Given the description of an element on the screen output the (x, y) to click on. 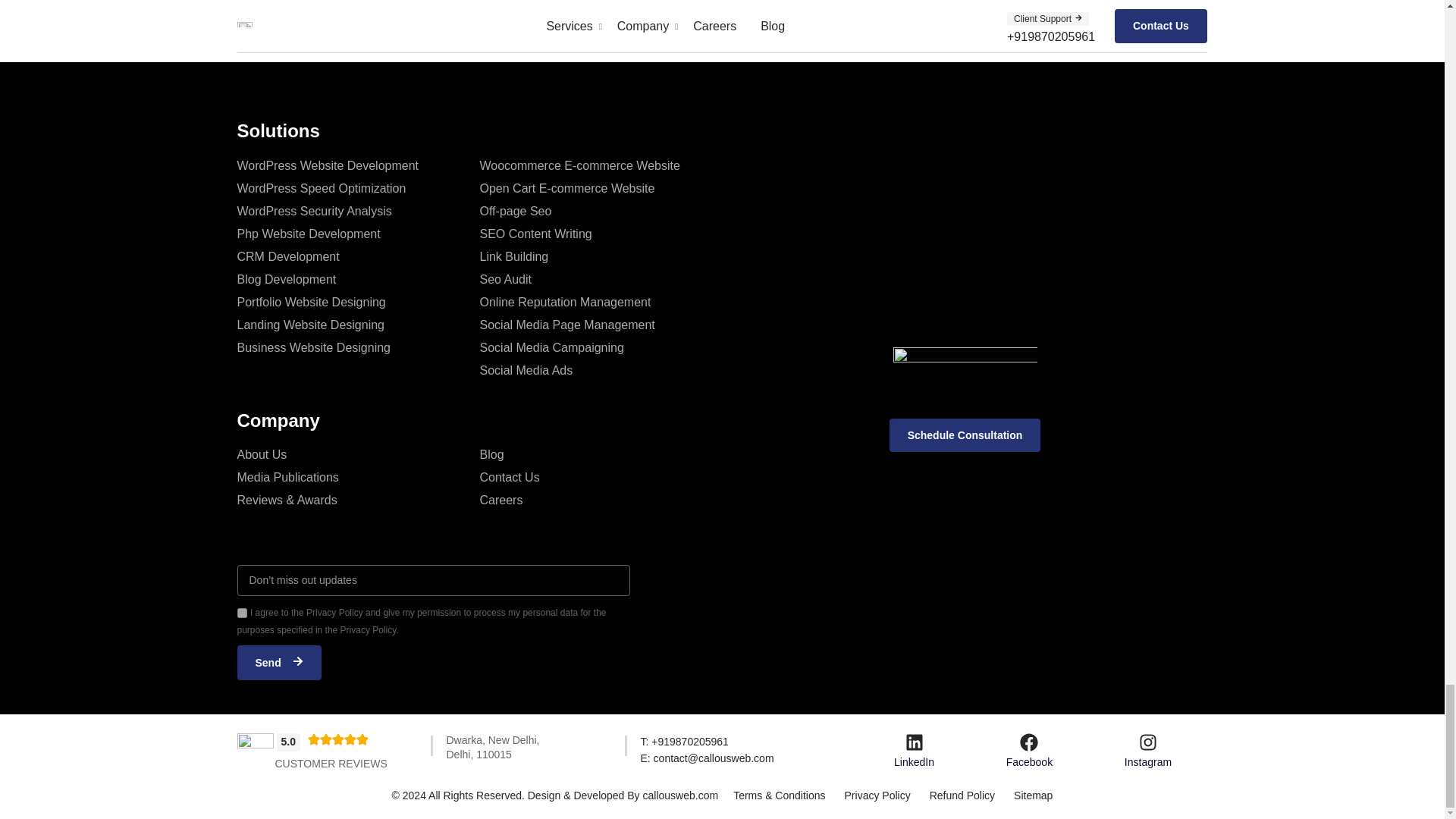
on (240, 613)
